Given the description of an element on the screen output the (x, y) to click on. 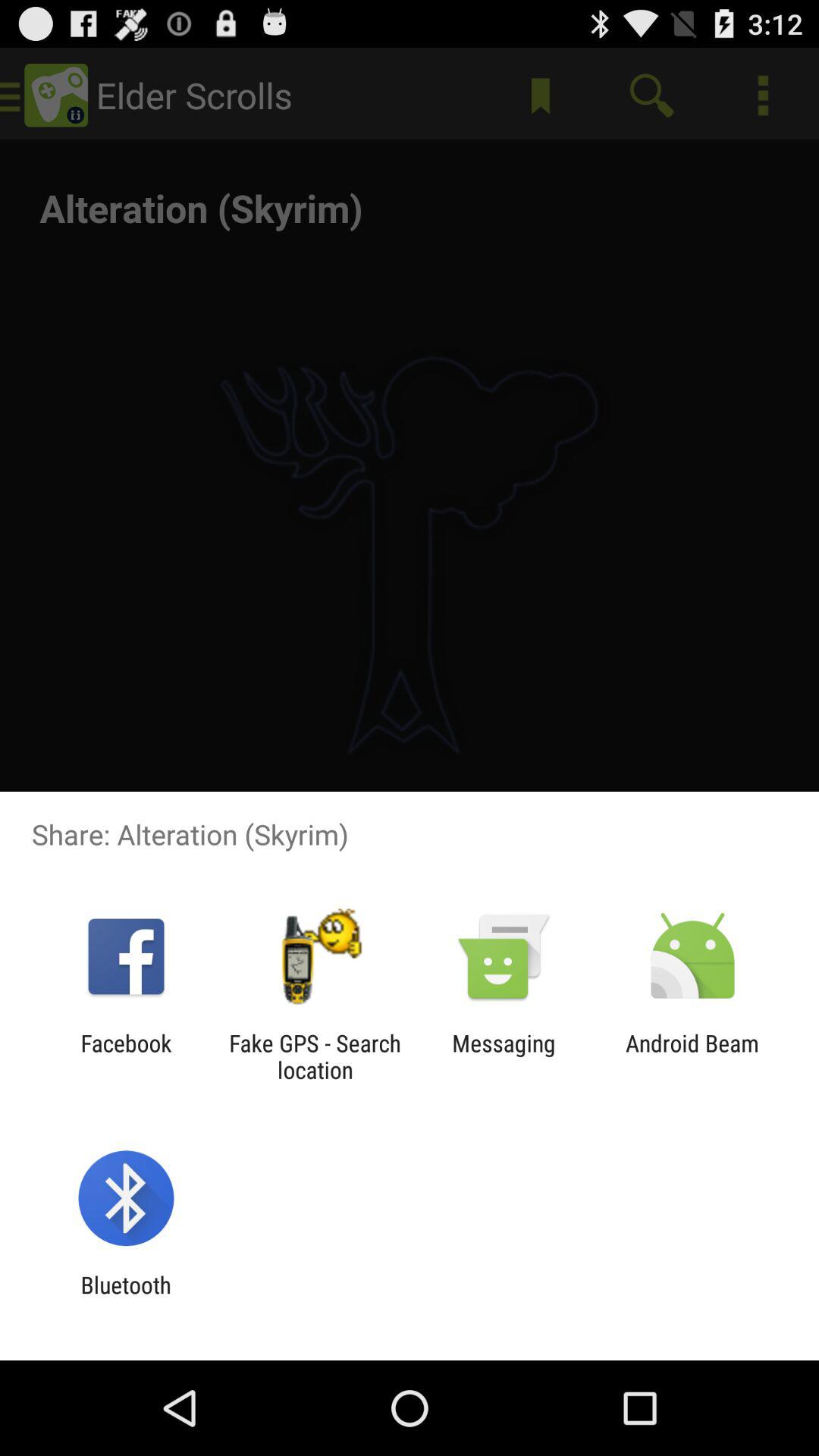
click app to the left of android beam icon (503, 1056)
